Given the description of an element on the screen output the (x, y) to click on. 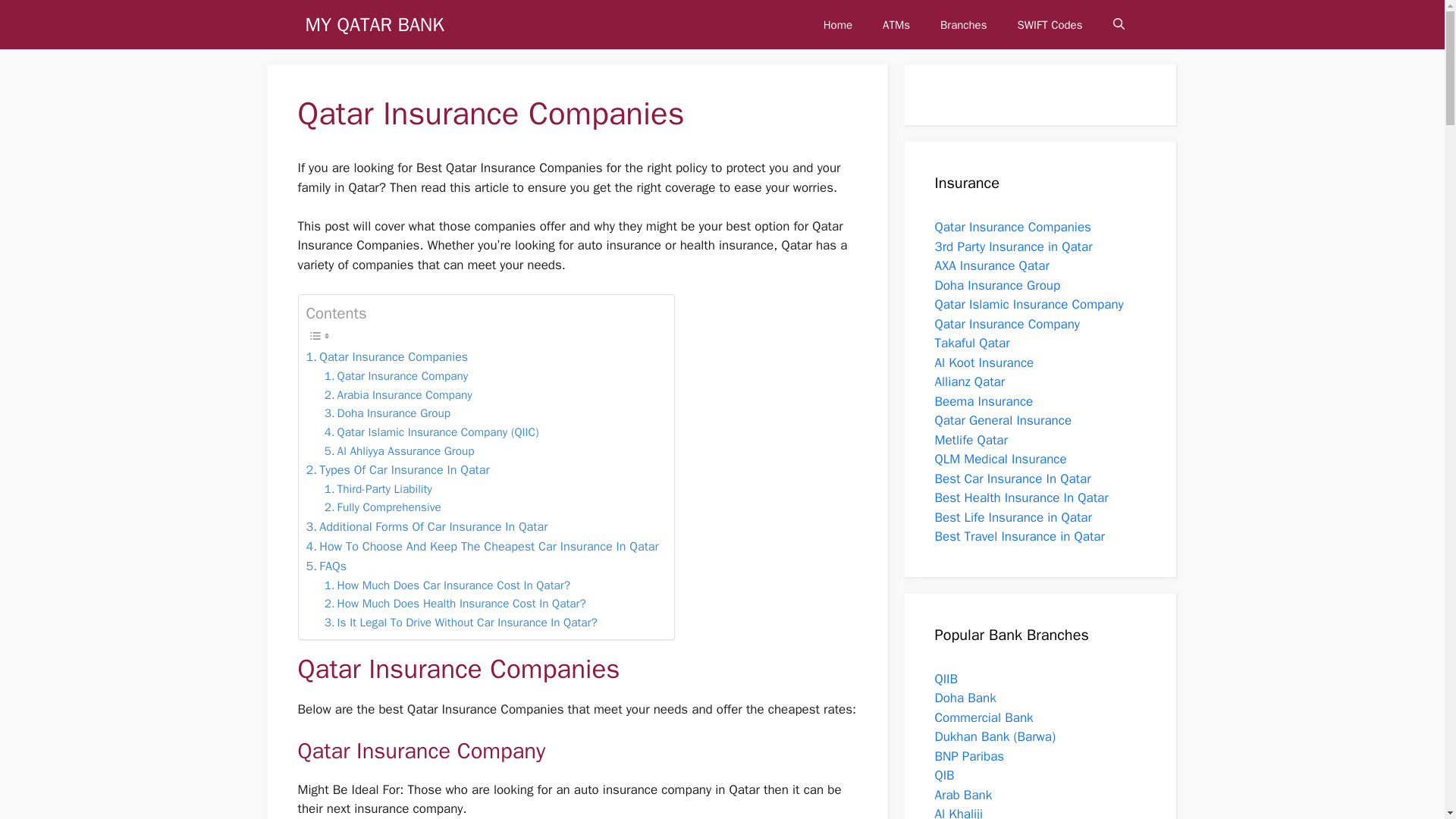
How To Choose And Keep The Cheapest Car Insurance In Qatar (482, 546)
FAQs (326, 566)
Qatar Insurance Company (396, 375)
Beema Insurance (983, 400)
Doha Insurance Group (386, 413)
MY QATAR BANK (374, 24)
Is It Legal To Drive Without Car Insurance In Qatar?  (462, 622)
Third-Party Liability (378, 488)
3rd Party Insurance in Qatar (1013, 245)
Qatar Insurance Company (1006, 323)
Doha Insurance Group (996, 285)
Takaful Qatar (971, 342)
Qatar Insurance Companies (1012, 227)
Qatar Islamic Insurance Company (1028, 304)
